Given the description of an element on the screen output the (x, y) to click on. 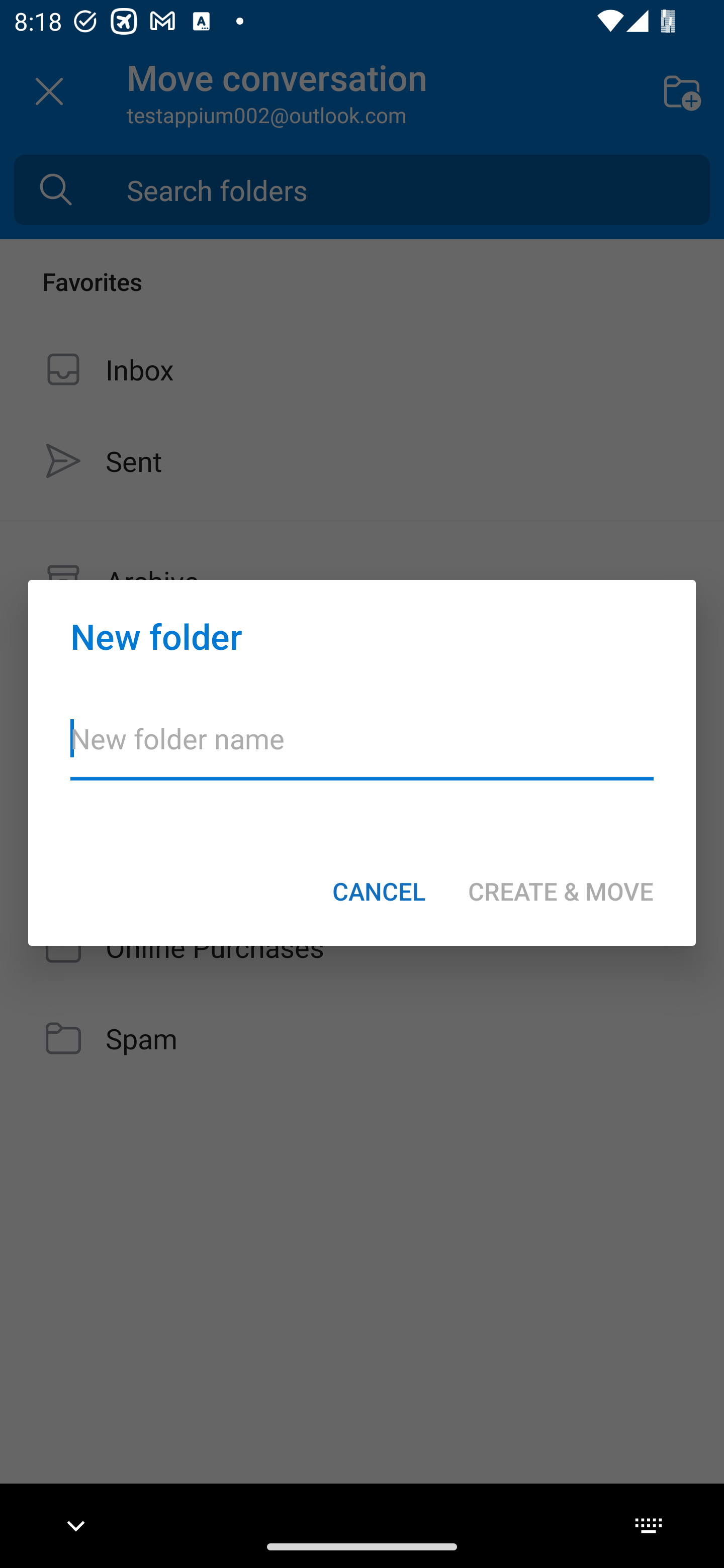
New folder name (361, 750)
CANCEL (378, 891)
CREATE & MOVE (560, 891)
